Given the description of an element on the screen output the (x, y) to click on. 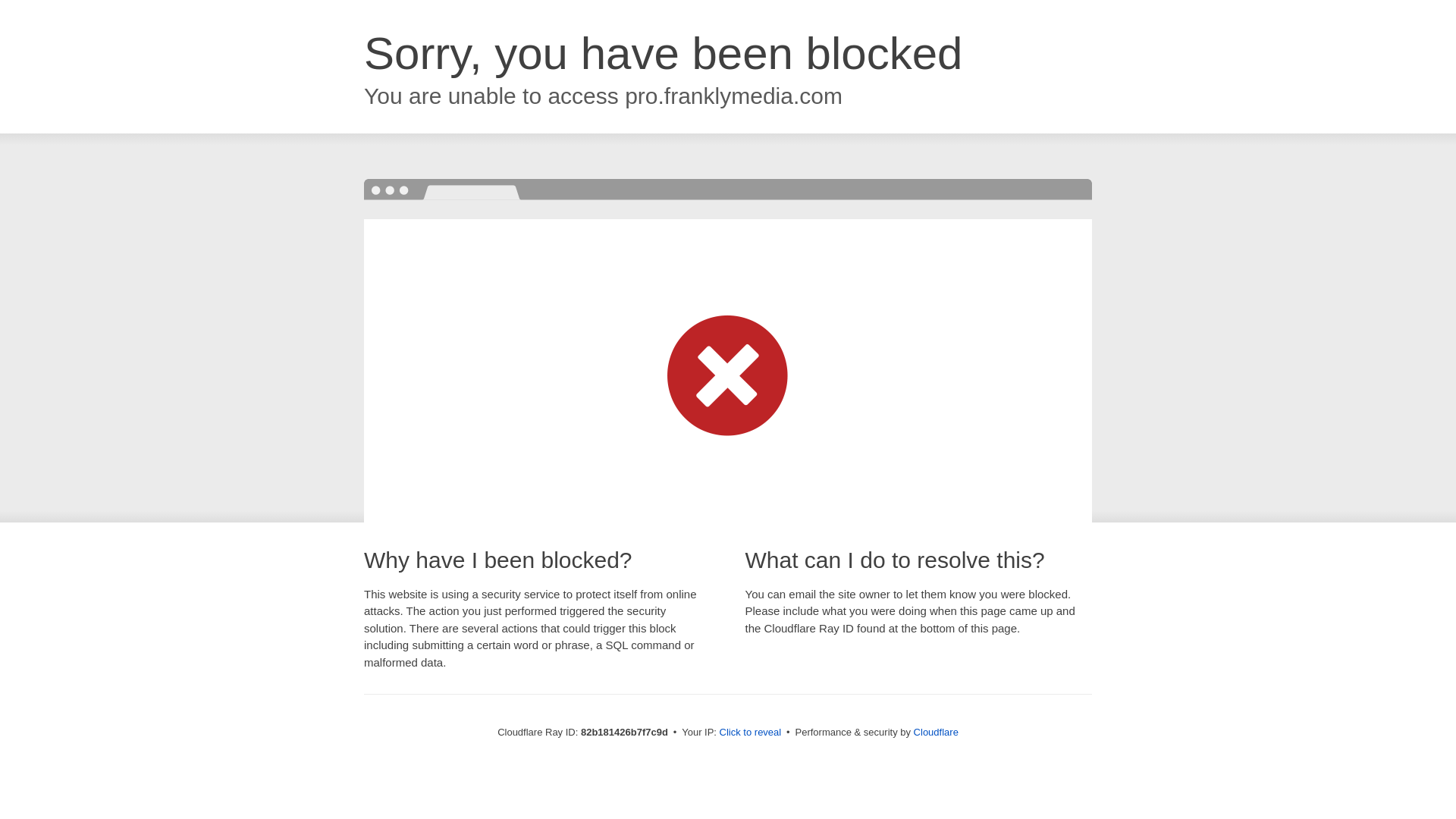
Cloudflare Element type: text (935, 731)
Click to reveal Element type: text (750, 732)
